Given the description of an element on the screen output the (x, y) to click on. 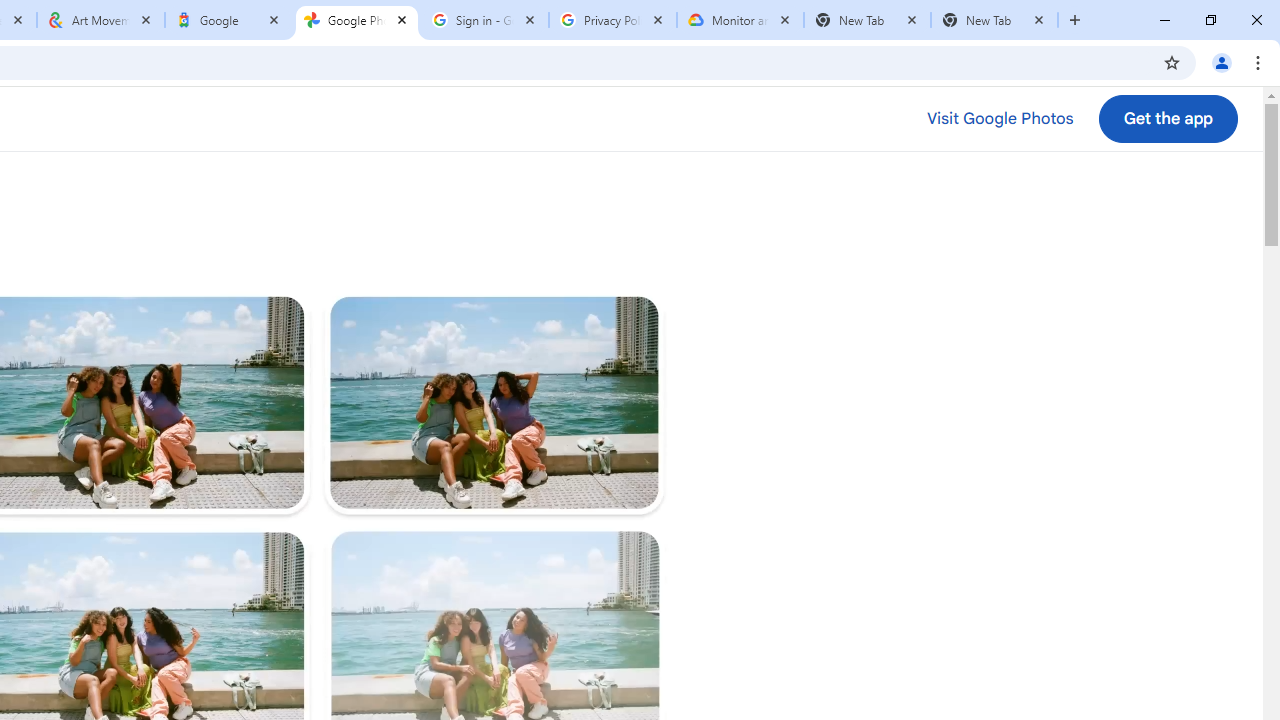
Google (229, 20)
Visit Google Photos (999, 119)
New Tab (866, 20)
Sign in - Google Accounts (485, 20)
New Tab (994, 20)
